Given the description of an element on the screen output the (x, y) to click on. 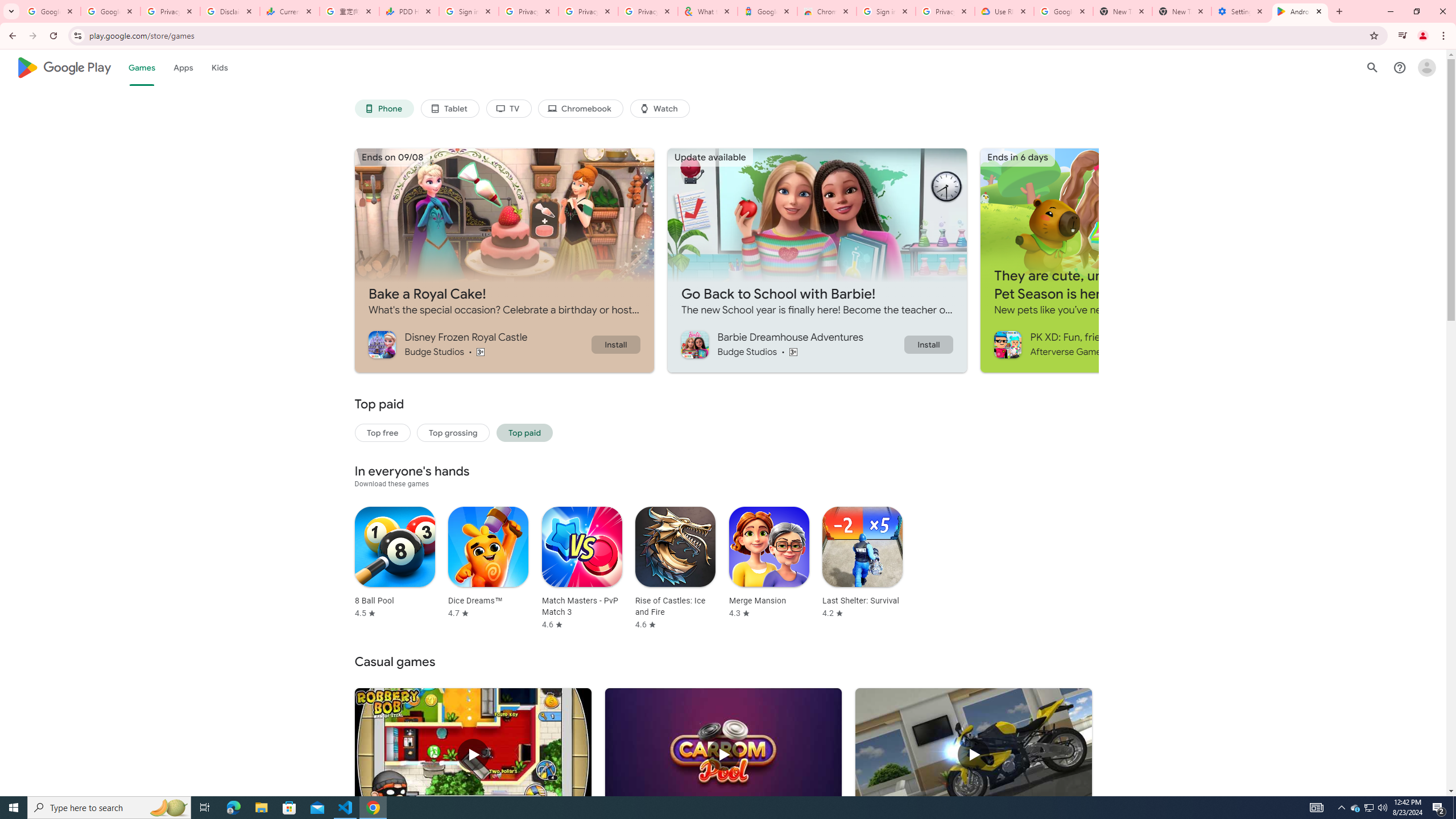
New Tab (1182, 11)
Watch (660, 108)
Chromebook (581, 108)
Top free (381, 432)
8 Ball Pool Rated 4.5 stars out of five stars (394, 562)
Currencies - Google Finance (289, 11)
Privacy Checkup (647, 11)
